Given the description of an element on the screen output the (x, y) to click on. 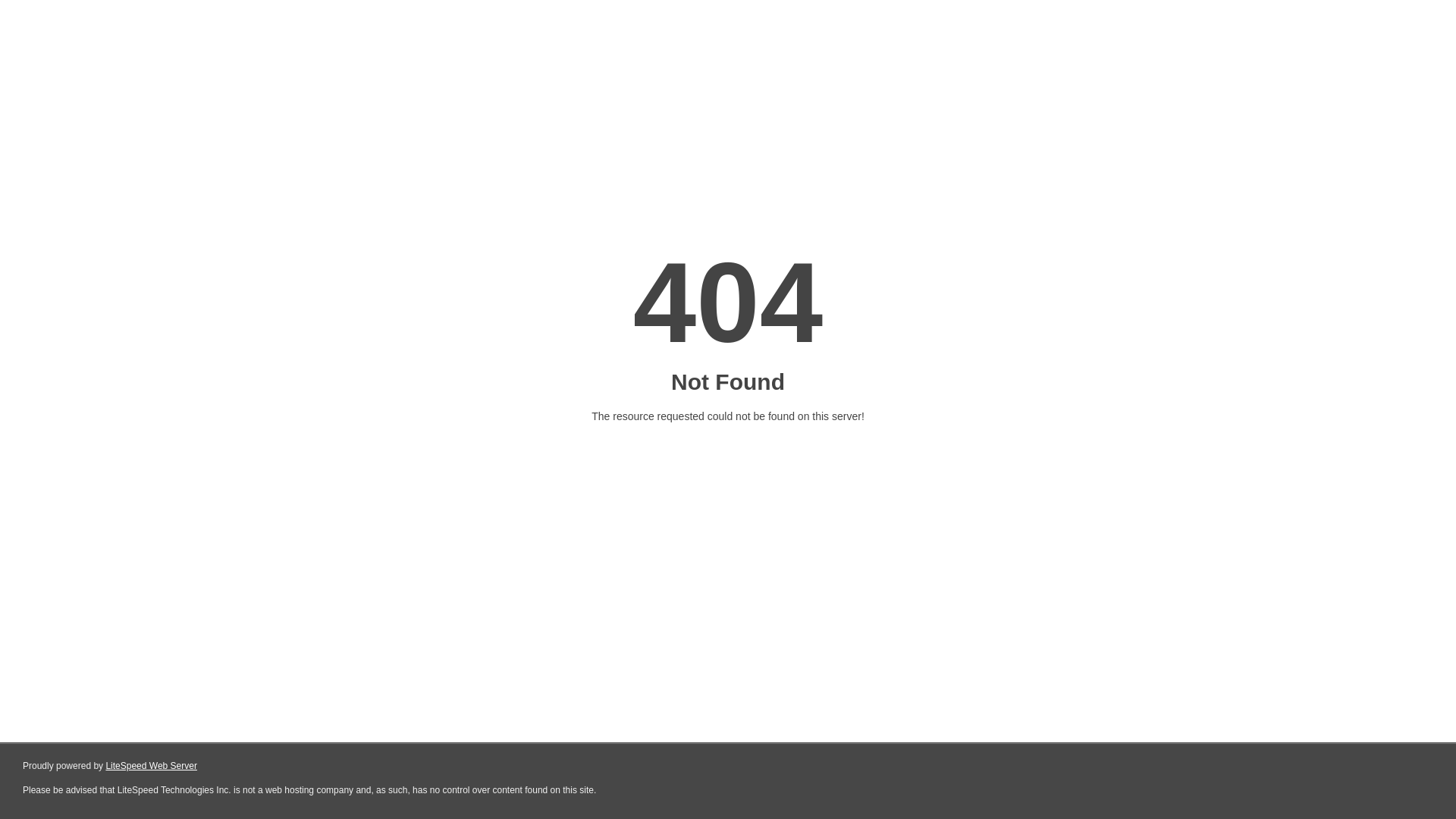
LiteSpeed Web Server Element type: text (151, 765)
